Given the description of an element on the screen output the (x, y) to click on. 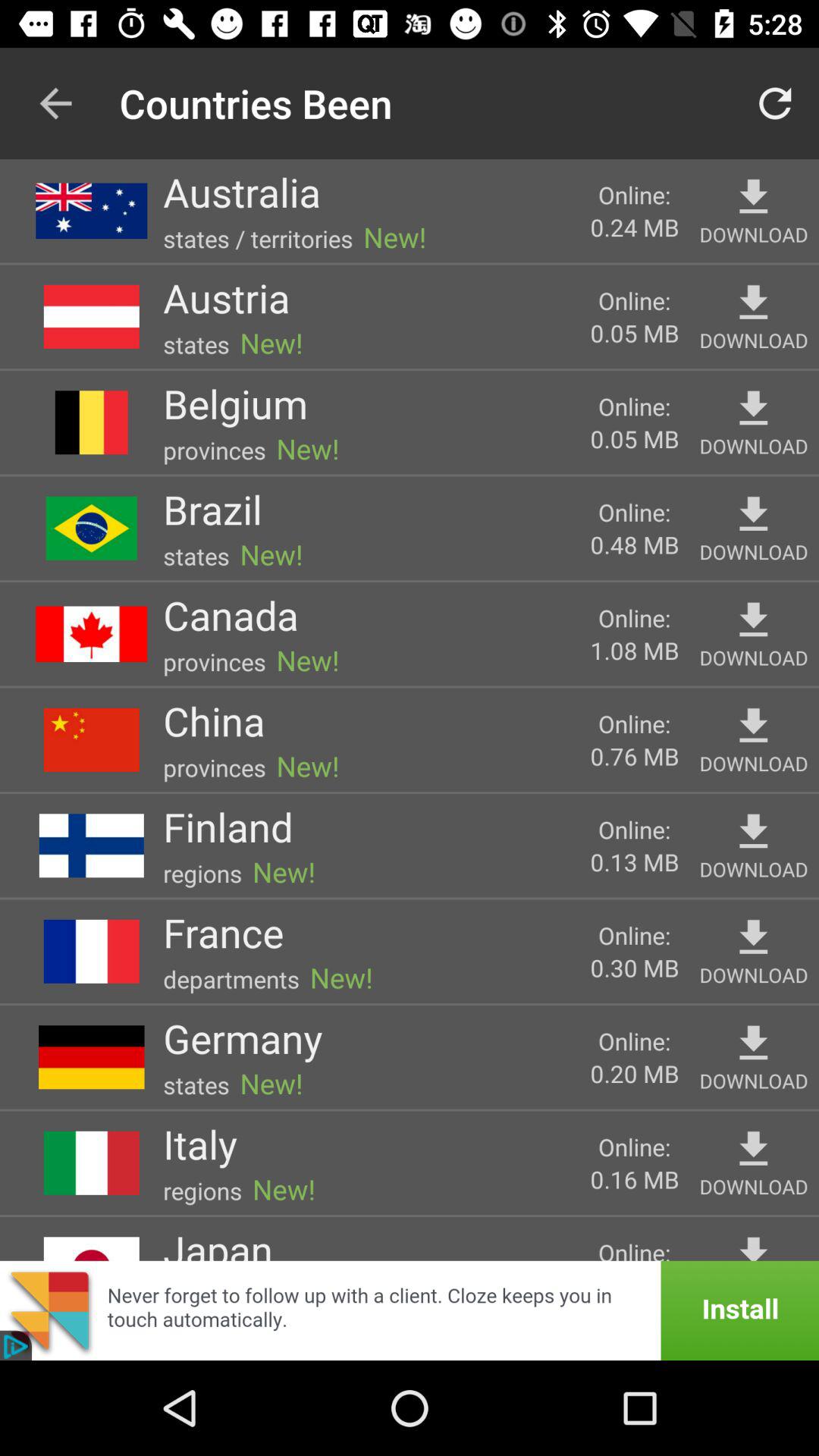
tap the icon next to countries been app (55, 103)
